Given the description of an element on the screen output the (x, y) to click on. 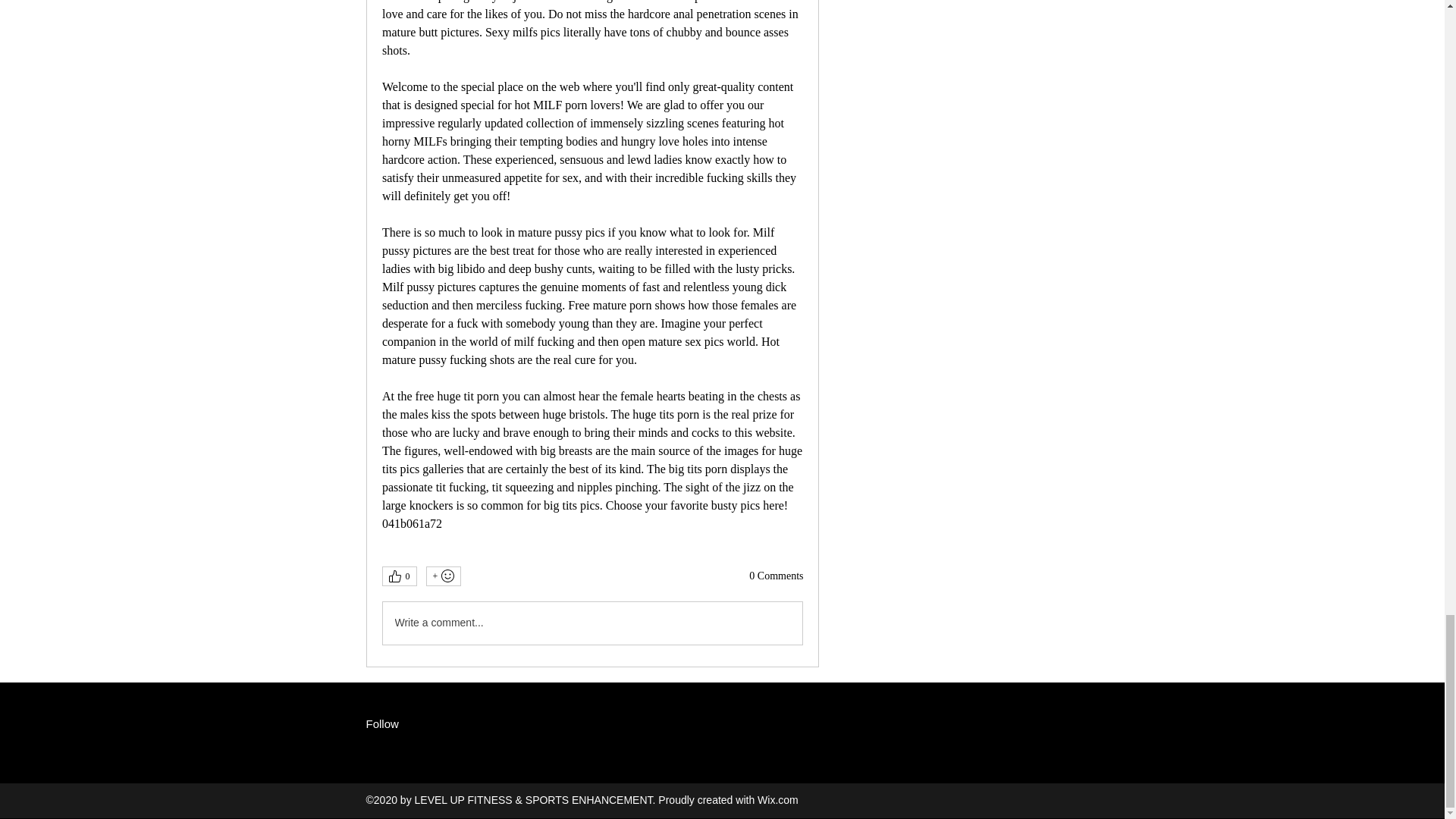
Write a comment... (591, 622)
0 Comments (776, 575)
